Given the description of an element on the screen output the (x, y) to click on. 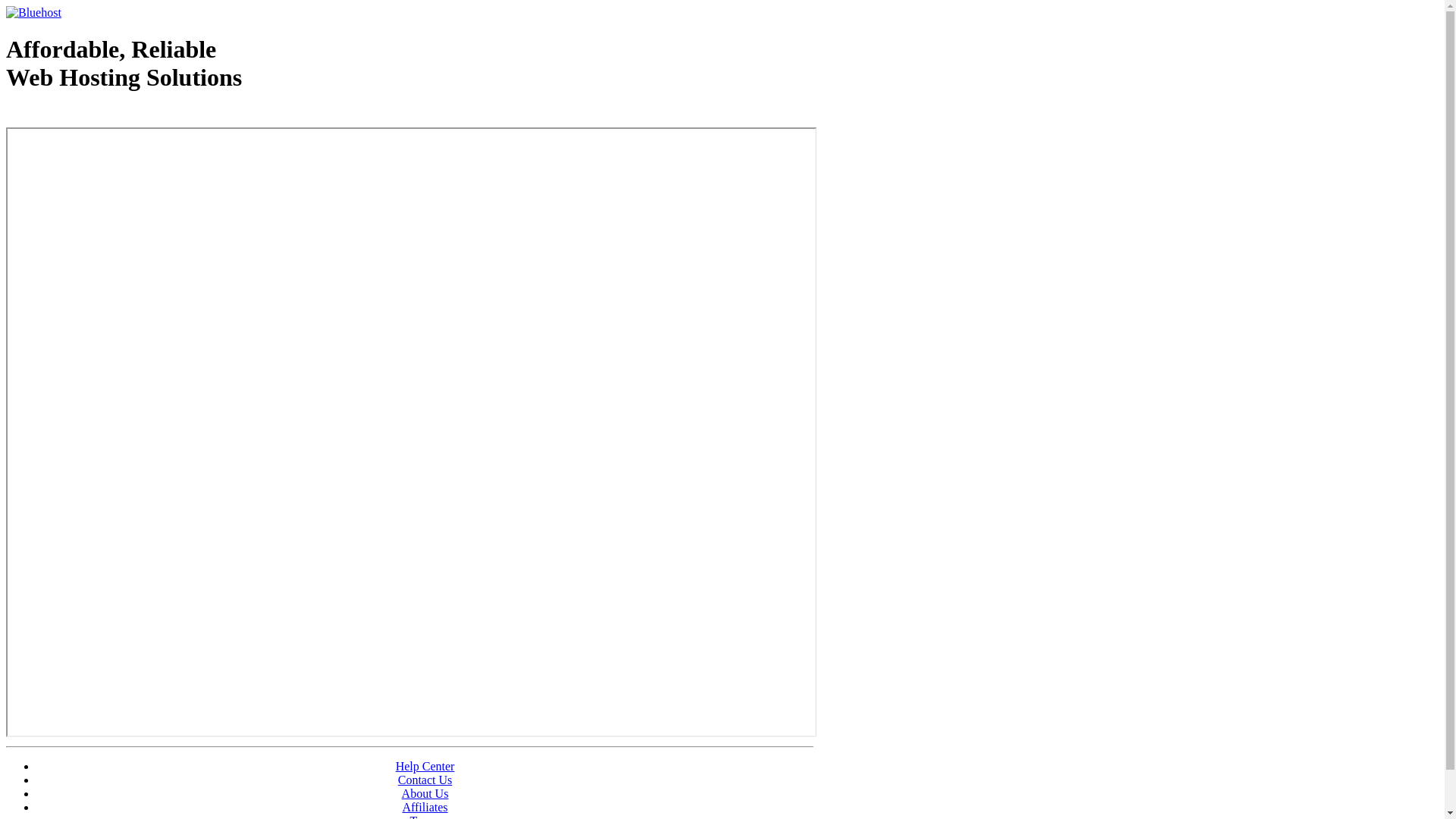
About Us Element type: text (424, 793)
Contact Us Element type: text (425, 779)
Help Center Element type: text (425, 765)
Affiliates Element type: text (424, 806)
Web Hosting - courtesy of www.bluehost.com Element type: text (94, 115)
